Given the description of an element on the screen output the (x, y) to click on. 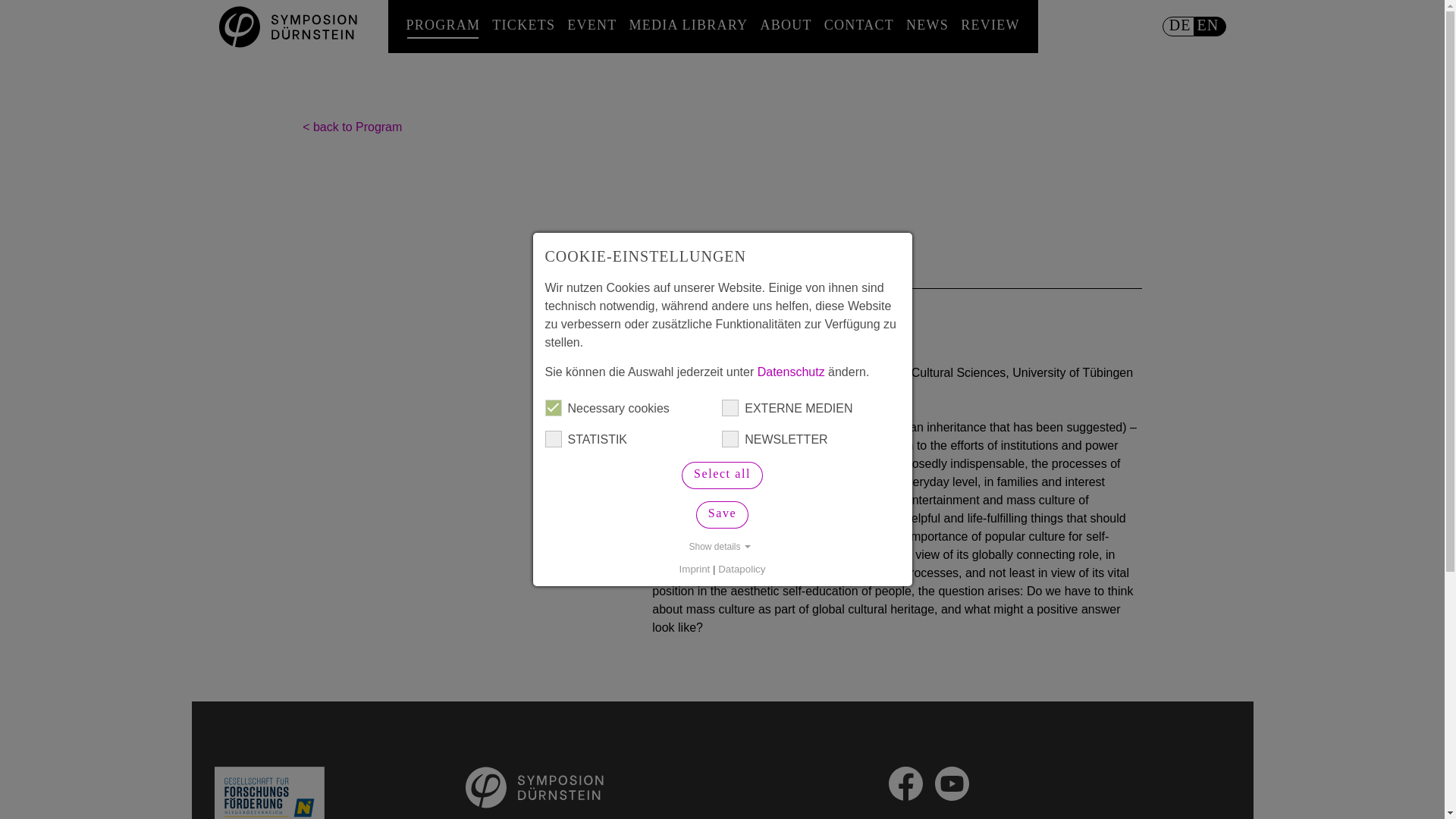
EVENT (591, 25)
Platzhalter (458, 271)
PROGRAM (443, 25)
MEDIA LIBRARY (688, 25)
TICKETS (523, 25)
REVIEW (990, 25)
CONTACT (858, 25)
NEWS (927, 25)
EN (1209, 26)
DE (1177, 26)
ABOUT (785, 25)
